Given the description of an element on the screen output the (x, y) to click on. 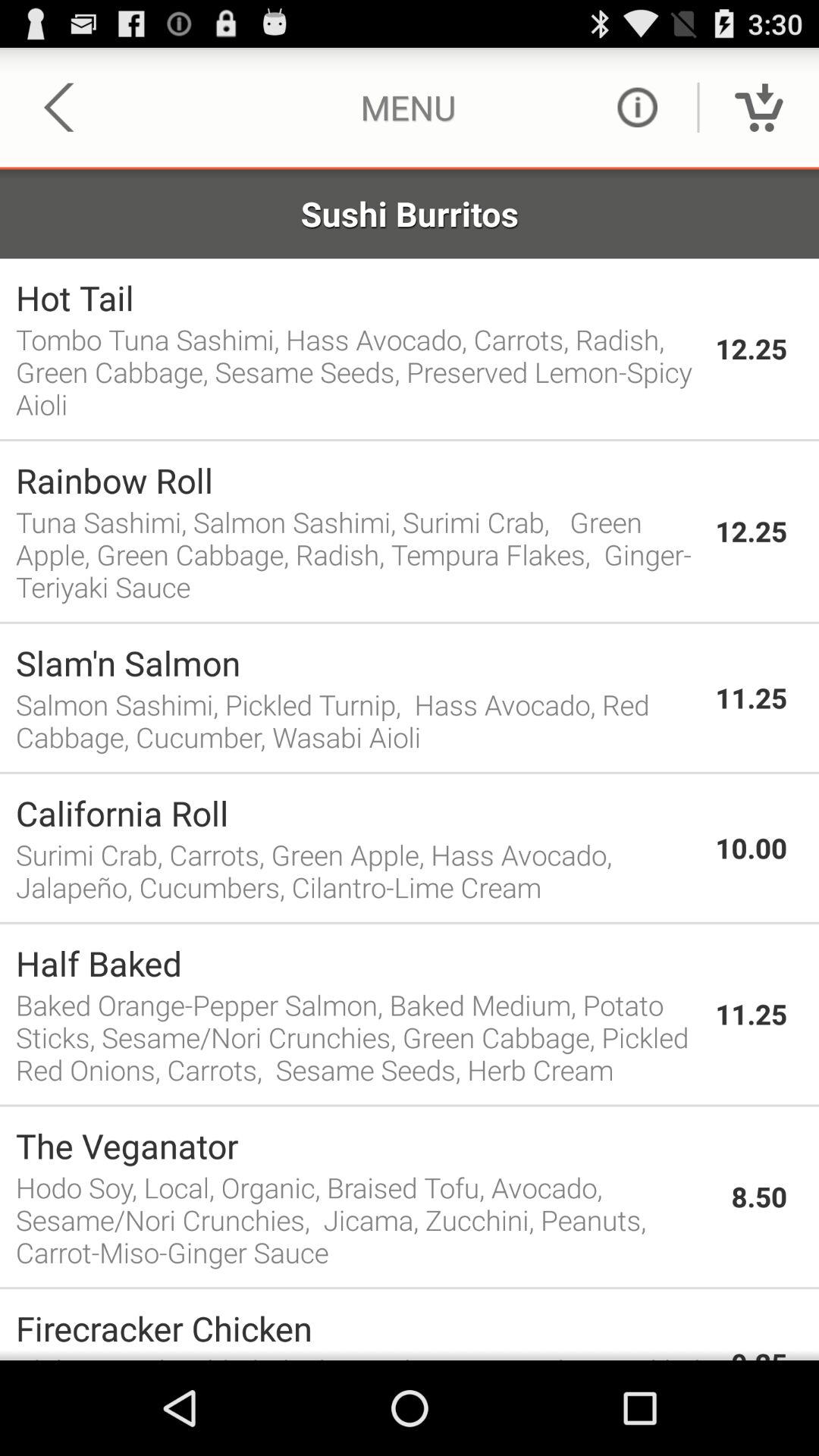
click the item to the right of california roll (751, 847)
